Given the description of an element on the screen output the (x, y) to click on. 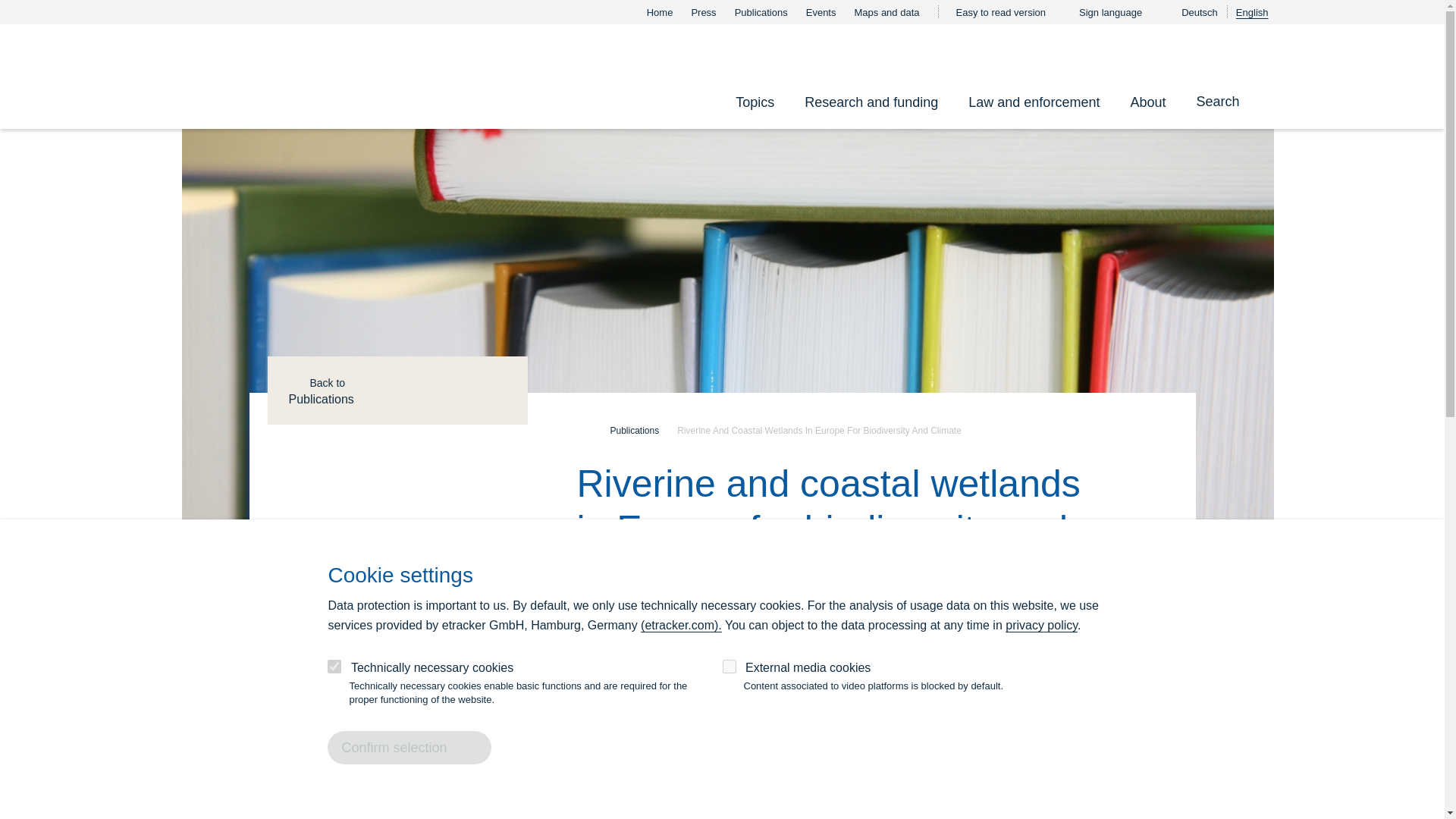
Easy to read version (1008, 12)
Maps and data (885, 12)
Events (820, 12)
Sign language (1117, 12)
Change settings (517, 738)
Deutsch (1198, 12)
necessary (333, 666)
Zur Startseite des BfN (304, 76)
Confirm selection (408, 747)
Direkt zur Hauptnavigation (8, 137)
English (1252, 12)
Publications (761, 12)
Press (703, 12)
privacy policy (1041, 625)
